Given the description of an element on the screen output the (x, y) to click on. 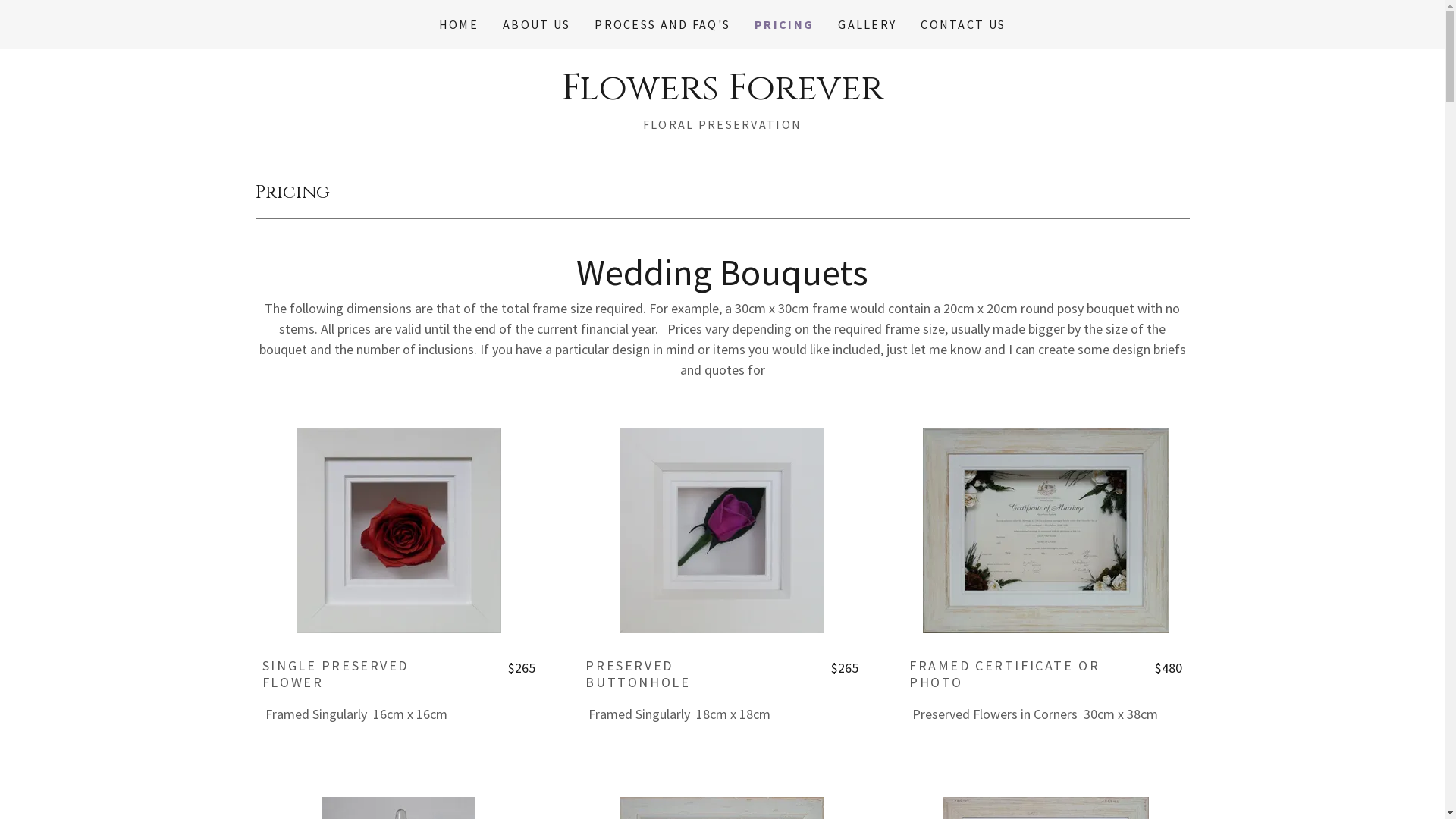
PROCESS AND FAQ'S Element type: text (661, 23)
Flowers Forever Element type: text (722, 94)
CONTACT US Element type: text (963, 23)
HOME Element type: text (458, 23)
PRICING Element type: text (783, 24)
ABOUT US Element type: text (536, 23)
GALLERY Element type: text (866, 23)
